Given the description of an element on the screen output the (x, y) to click on. 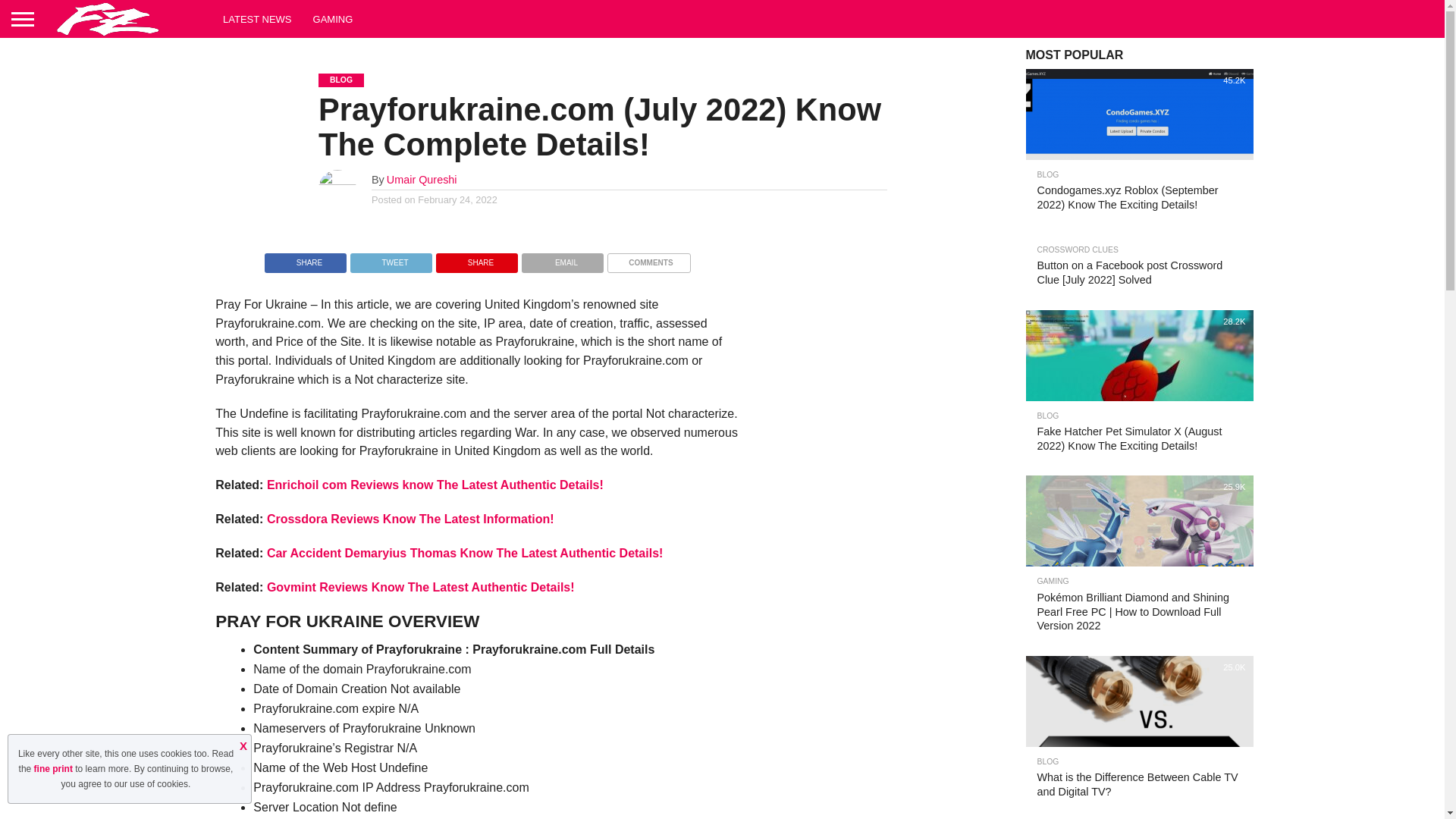
Posts by Umair Qureshi (422, 179)
Crossdora Reviews Know The Latest Information! (410, 518)
SHARE (305, 258)
Tweet This Post (390, 258)
SHARE (476, 258)
Umair Qureshi (422, 179)
Pin This Post (476, 258)
Share on Facebook (305, 258)
TWEET (390, 258)
EMAIL (562, 258)
LATEST NEWS (257, 18)
Govmint Reviews Know The Latest Authentic Details! (420, 586)
Enrichoil com Reviews know The Latest Authentic Details! (435, 484)
GAMING (333, 18)
